Given the description of an element on the screen output the (x, y) to click on. 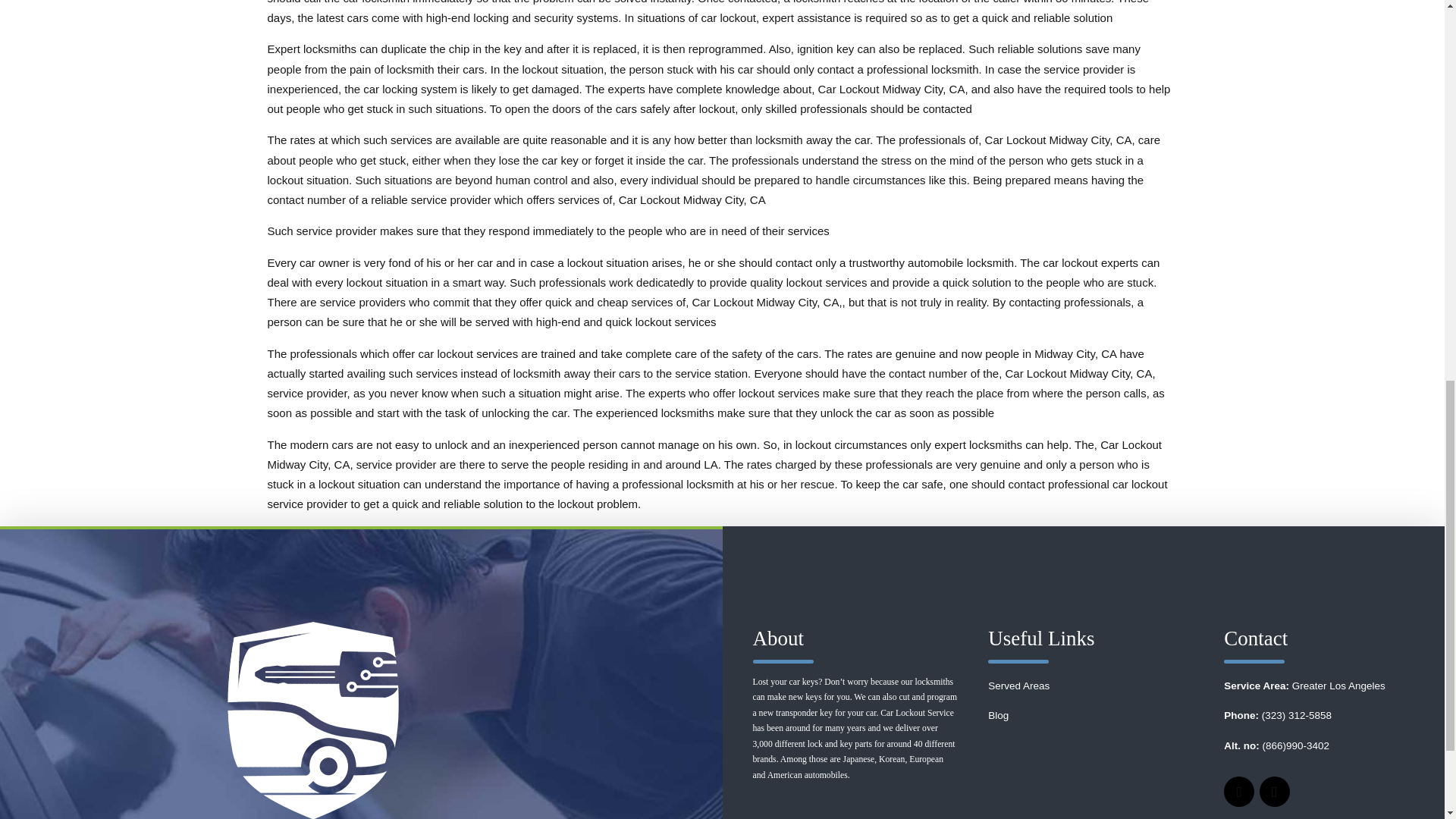
Blog (998, 715)
Served Areas (1018, 685)
